Given the description of an element on the screen output the (x, y) to click on. 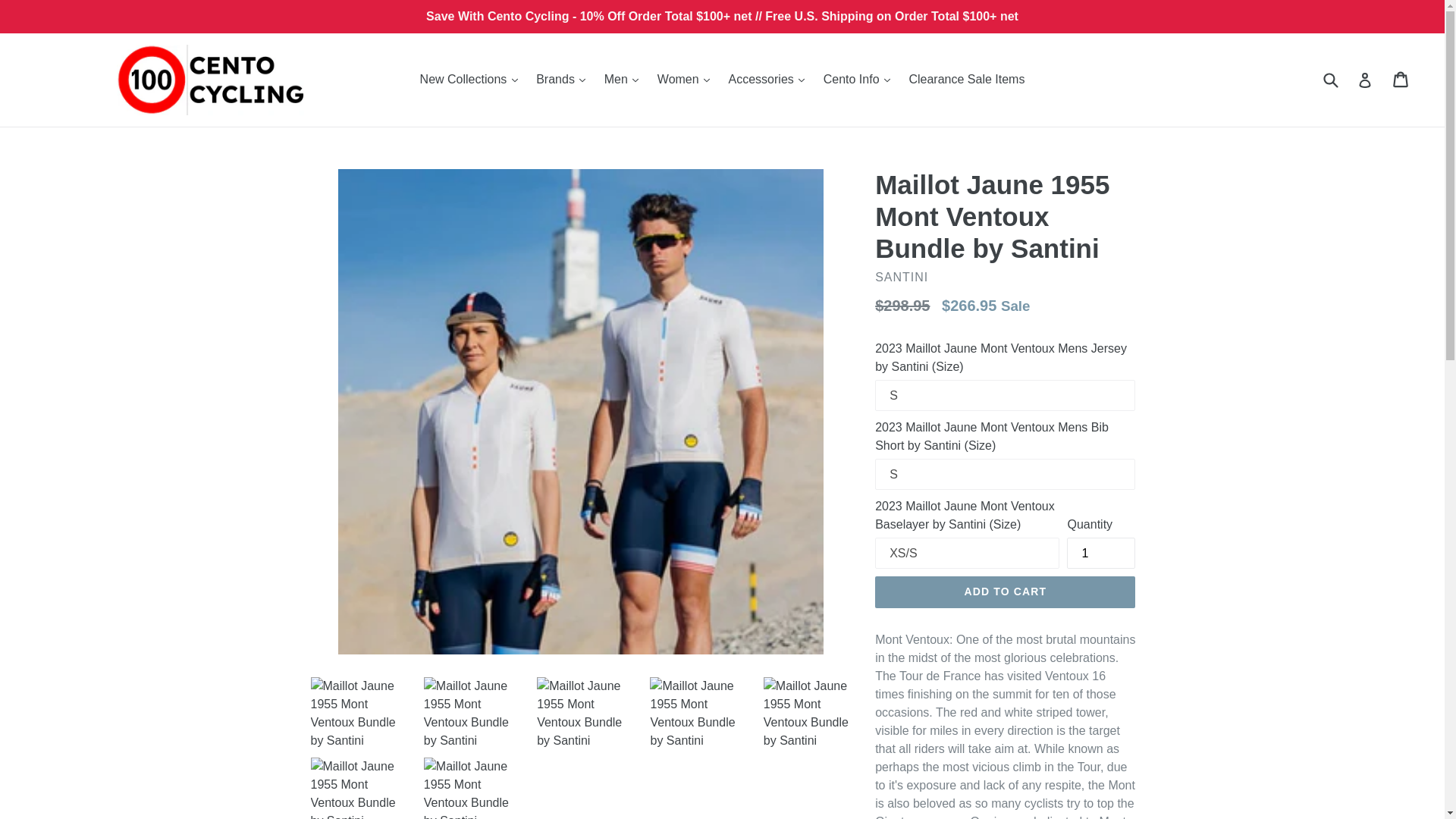
1 (1101, 552)
